Given the description of an element on the screen output the (x, y) to click on. 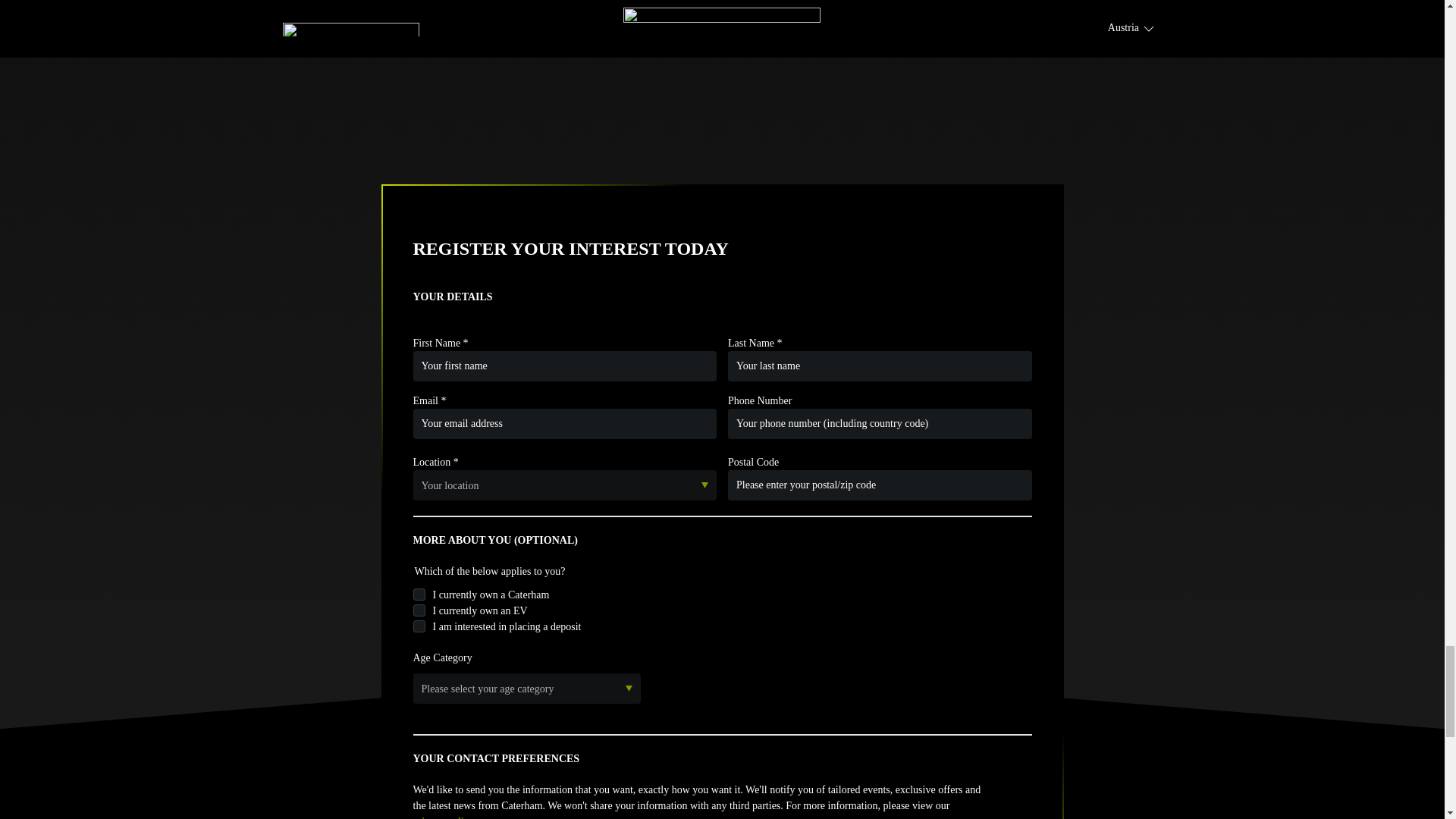
I have seen Project V and am interested in placing a deposit (418, 625)
I currently own a Caterham (418, 594)
  I currently own an EV (418, 610)
